Given the description of an element on the screen output the (x, y) to click on. 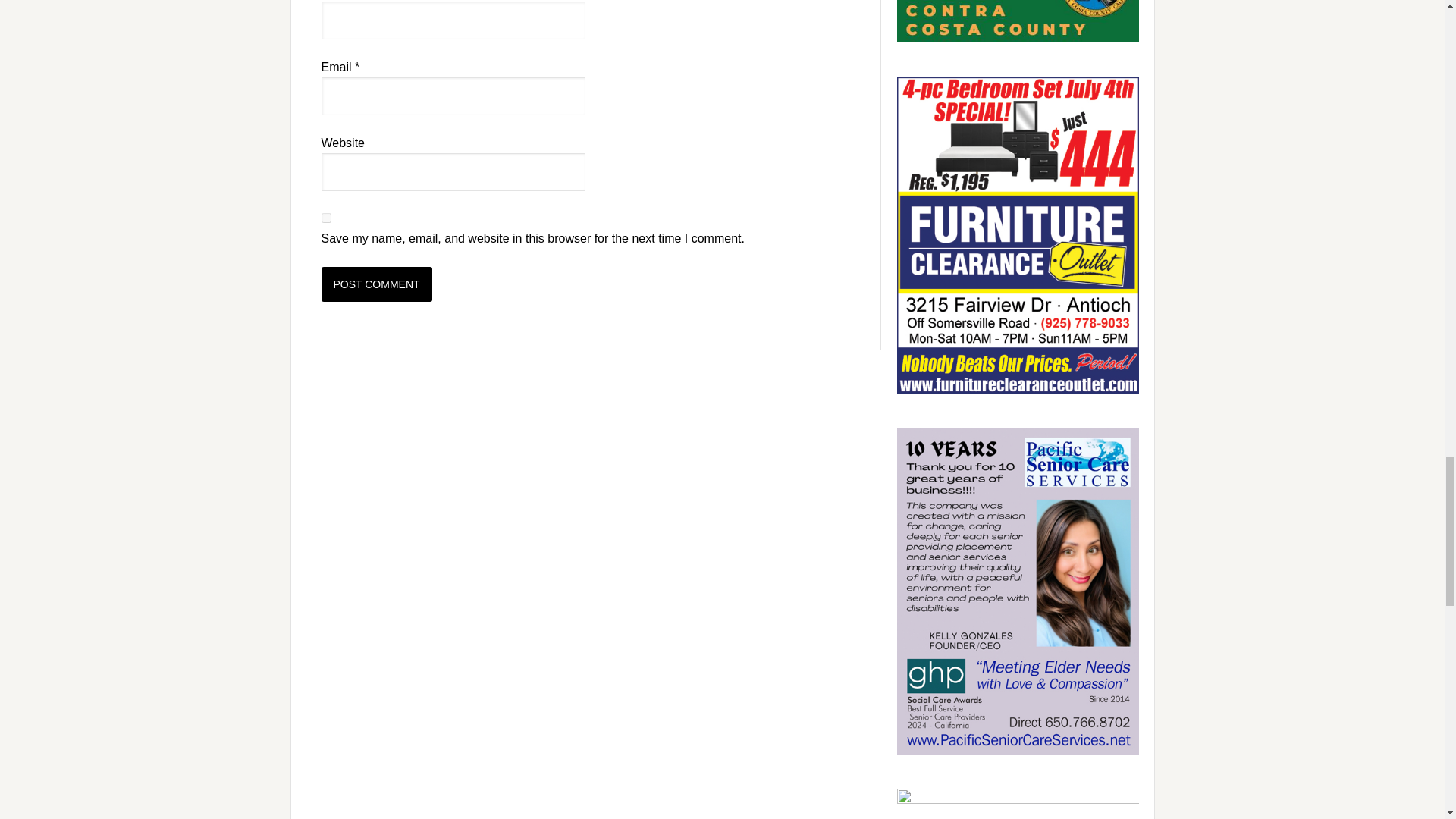
Post Comment (376, 284)
yes (326, 217)
